Given the description of an element on the screen output the (x, y) to click on. 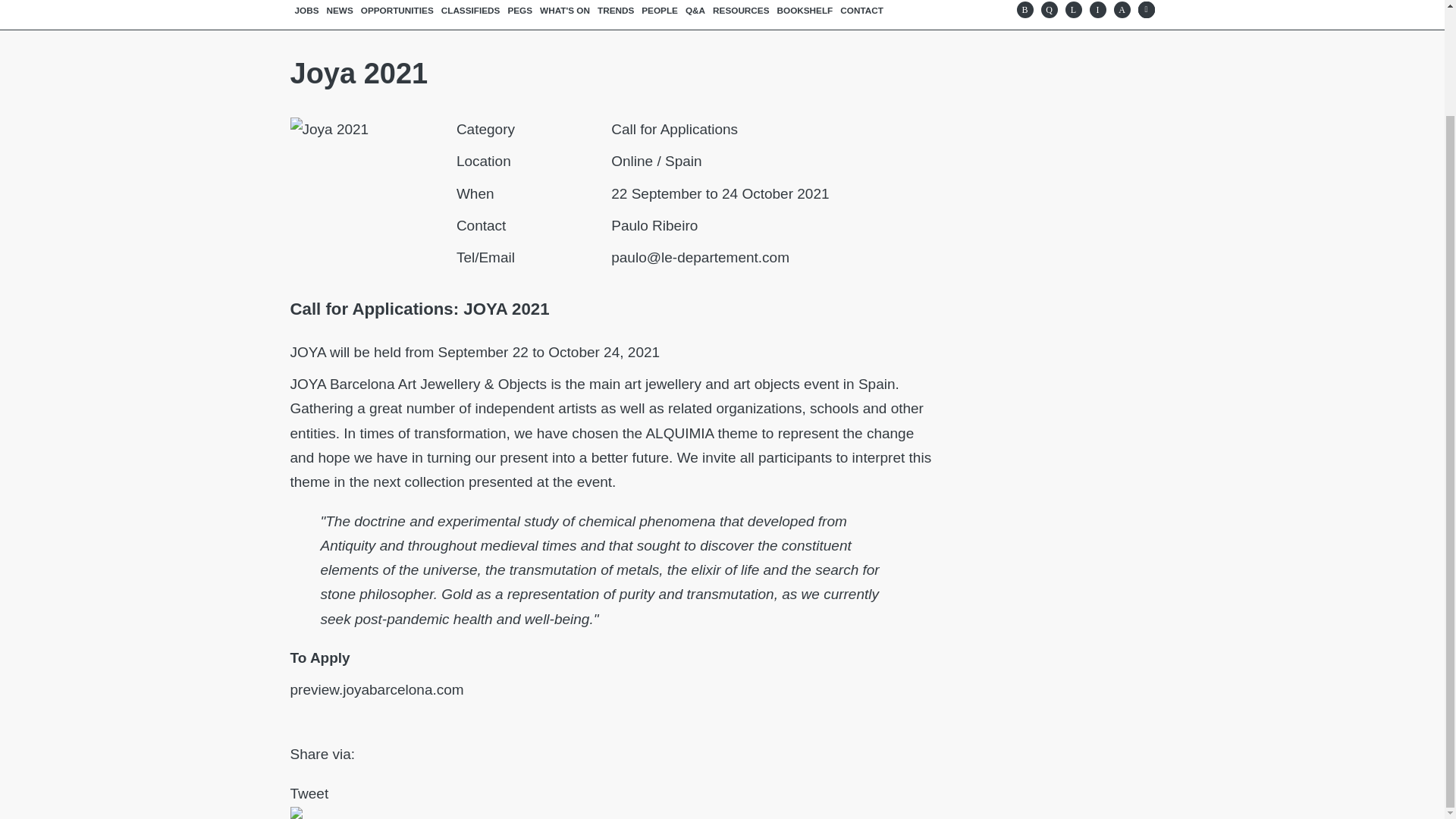
preview.joyabarcelona.com (376, 689)
A (1121, 9)
Q (1049, 9)
RESOURCES (741, 11)
BOOKSHELF (805, 11)
B (1024, 9)
PEGS (519, 11)
Search (1145, 9)
WHAT'S ON (564, 11)
PEOPLE (659, 11)
Tweet (309, 793)
CLASSIFIEDS (470, 11)
TRENDS (615, 11)
NEWS (339, 11)
OPPORTUNITIES (397, 11)
